Given the description of an element on the screen output the (x, y) to click on. 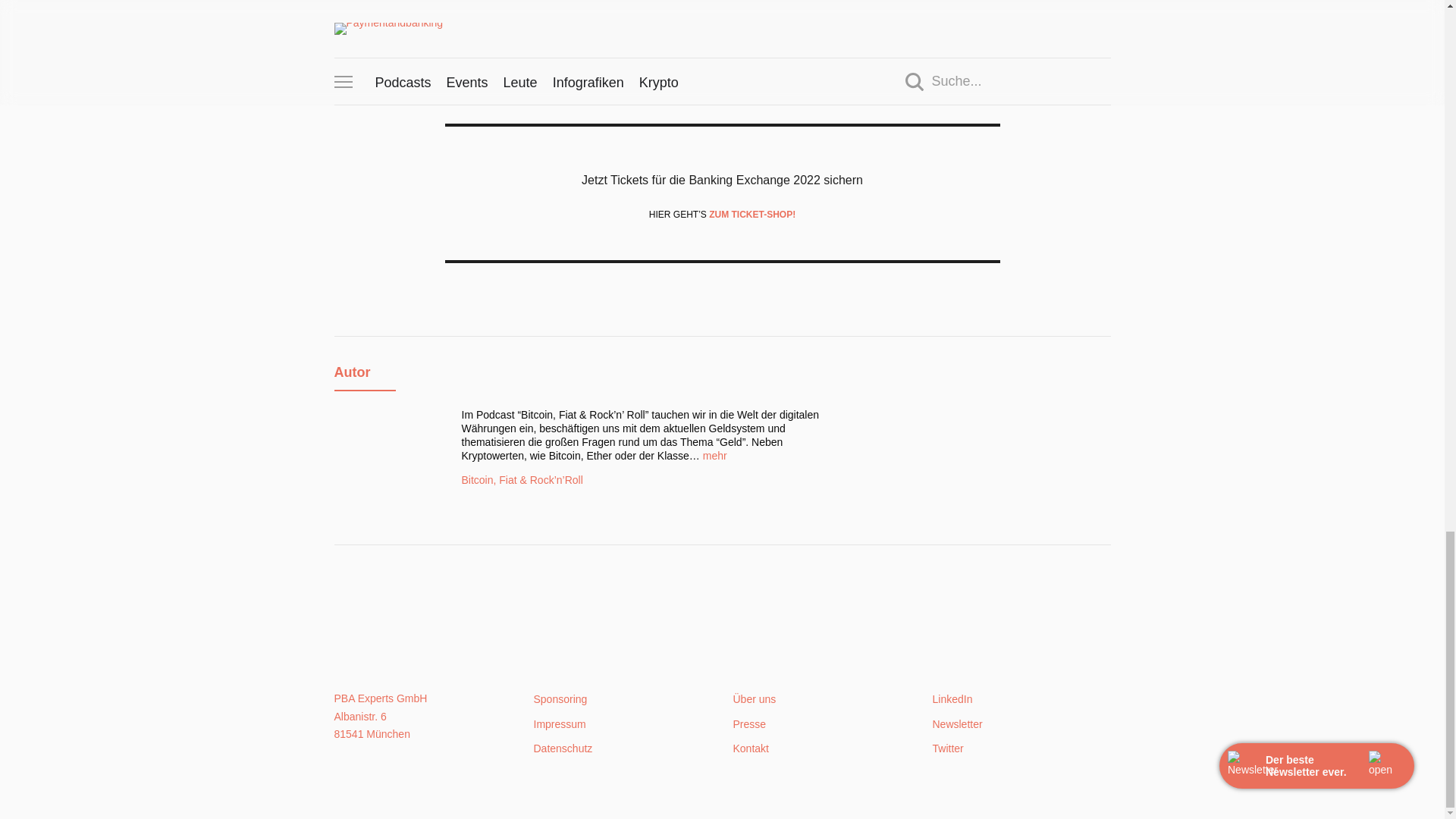
Sponsoring (561, 698)
mehr (714, 455)
Twitter (948, 748)
Newsletter (957, 724)
Presse (748, 724)
Datenschutz (563, 748)
Impressum (560, 724)
Kontakt (750, 748)
LinkedIn (952, 698)
ZUM TICKET-SHOP! (751, 214)
